Given the description of an element on the screen output the (x, y) to click on. 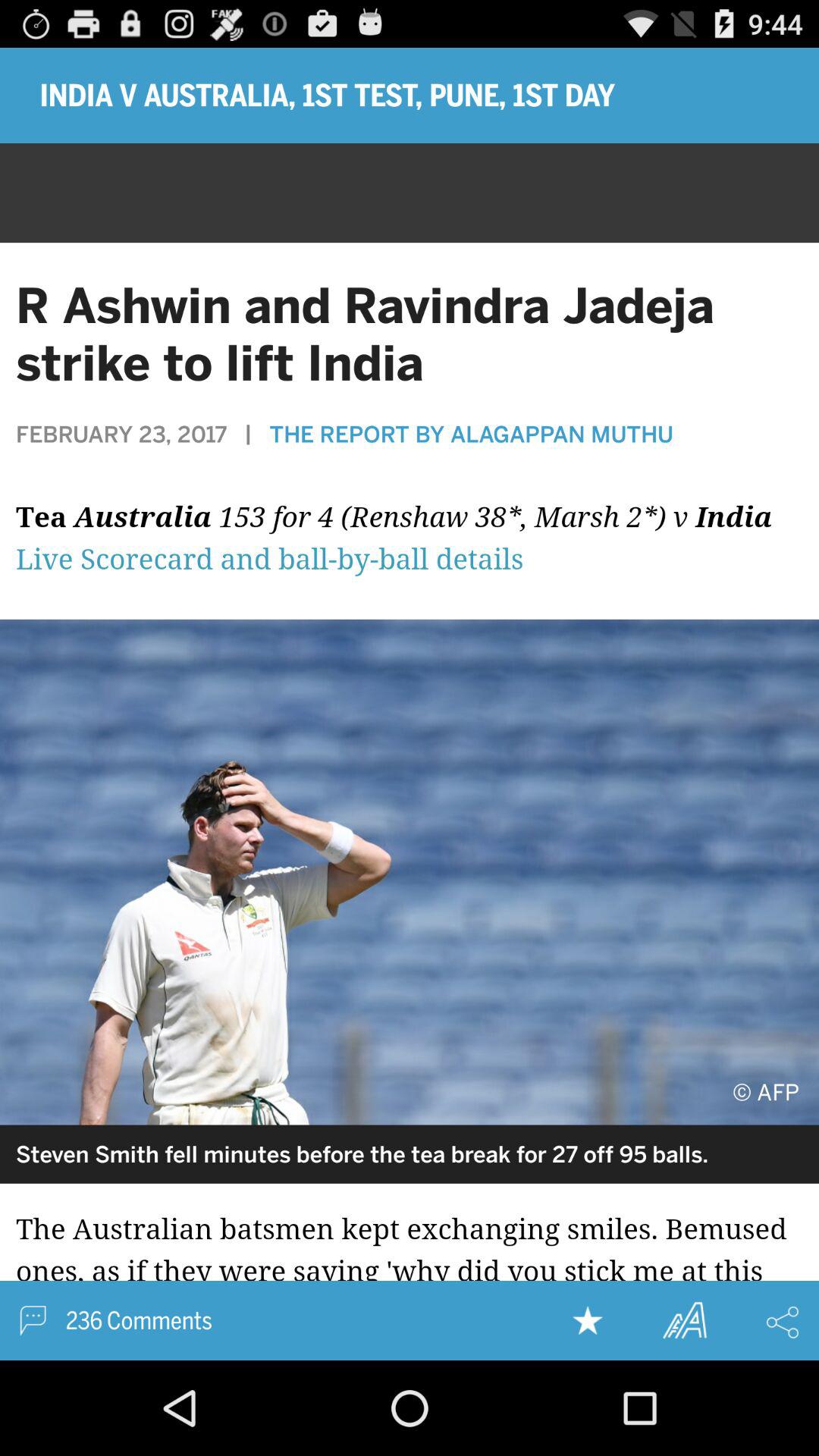
share the article (782, 1321)
